Given the description of an element on the screen output the (x, y) to click on. 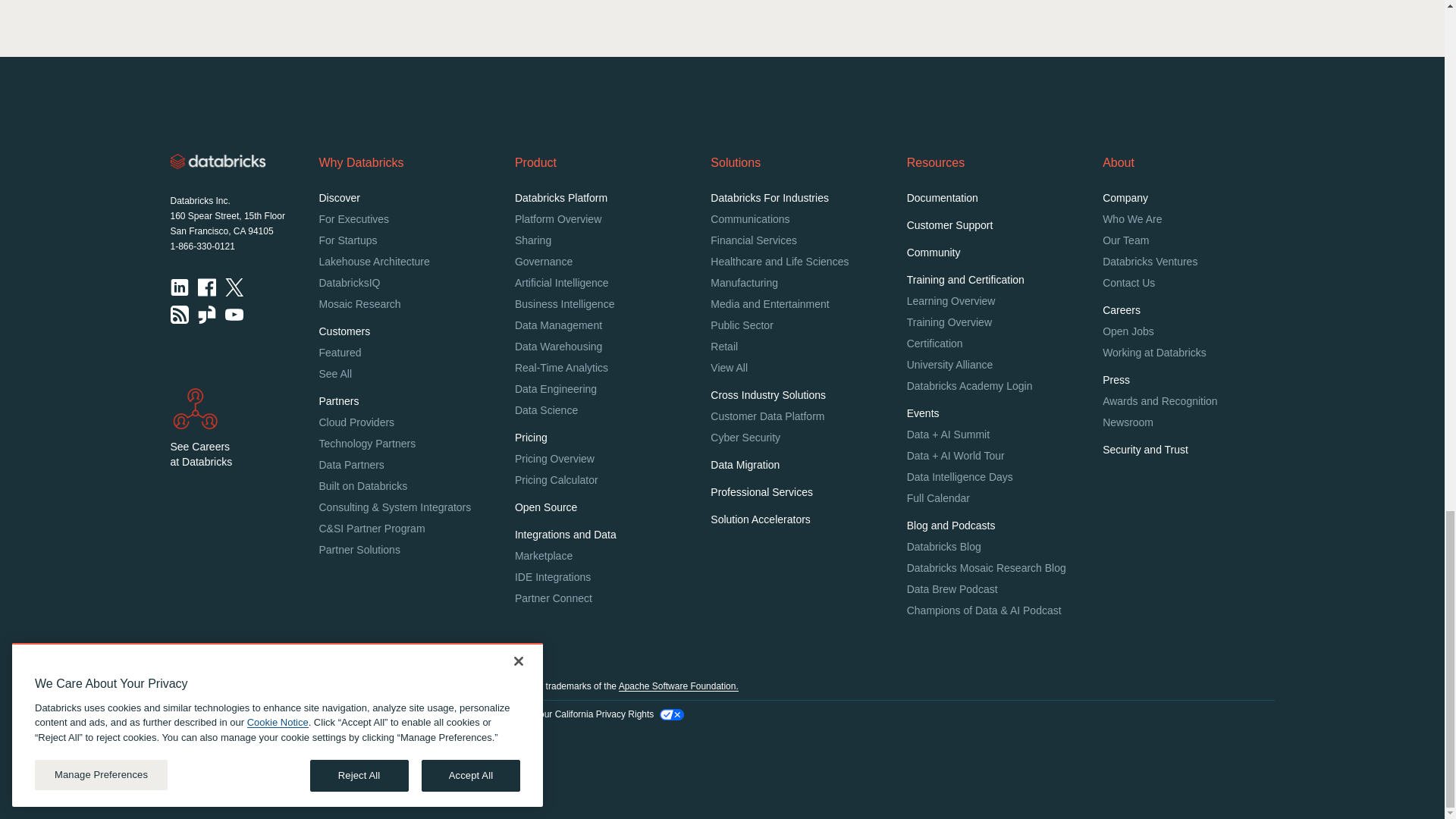
Technology Partners (366, 443)
Lakehouse Architecture (373, 261)
See All (335, 373)
For Startups (347, 240)
Featured (339, 352)
Platform Overview (558, 218)
Partner Solutions (358, 549)
Sharing (533, 240)
Built on Databricks (362, 485)
Governance (543, 261)
For Executives (353, 218)
Cloud Providers (356, 422)
Mosaic Research (359, 304)
DatabricksIQ (349, 282)
Data Partners (351, 464)
